Given the description of an element on the screen output the (x, y) to click on. 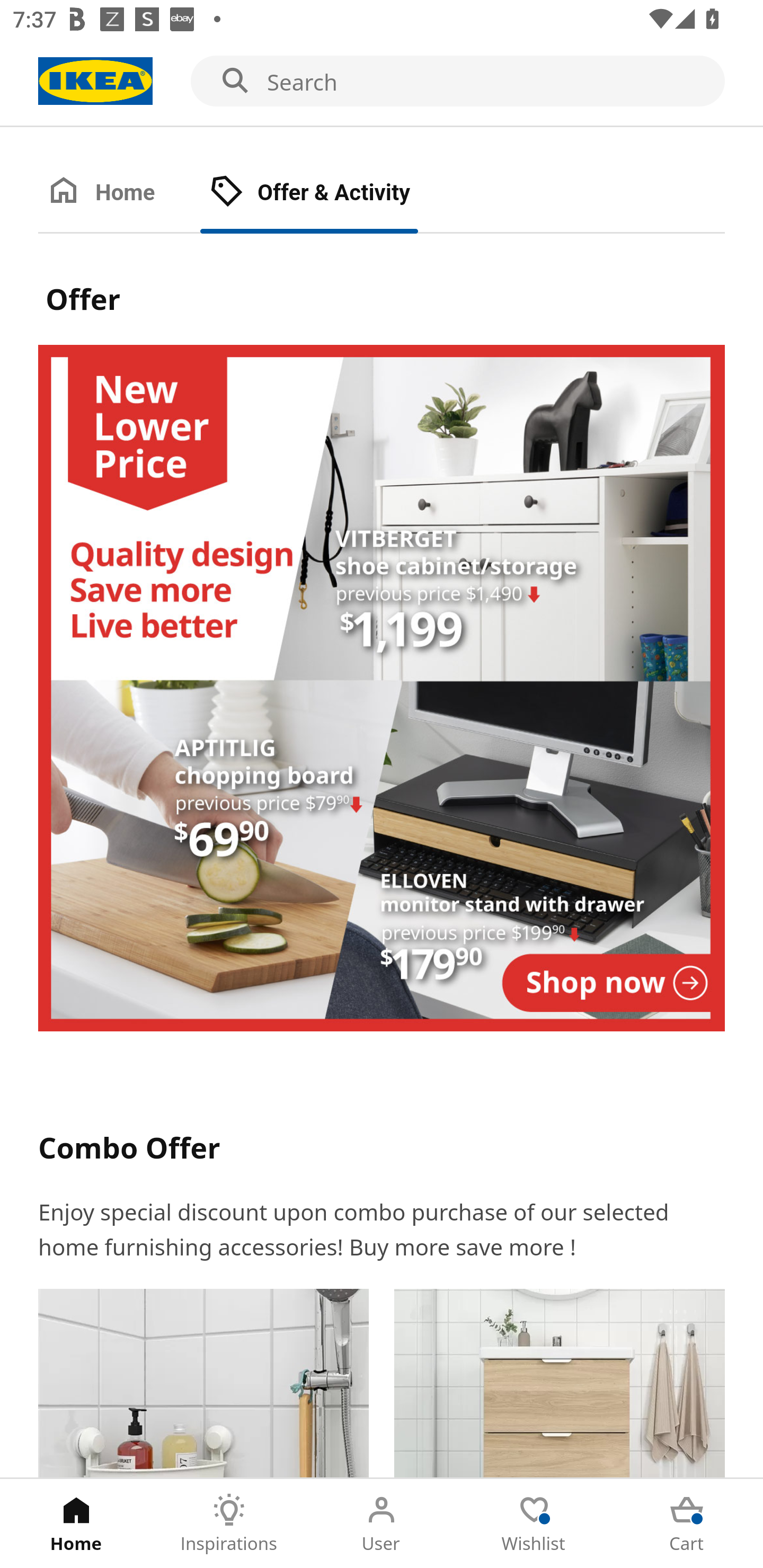
Search (381, 81)
Home
Tab 1 of 2 (118, 192)
Offer & Activity
Tab 2 of 2 (327, 192)
Home
Tab 1 of 5 (76, 1522)
Inspirations
Tab 2 of 5 (228, 1522)
User
Tab 3 of 5 (381, 1522)
Wishlist
Tab 4 of 5 (533, 1522)
Cart
Tab 5 of 5 (686, 1522)
